Given the description of an element on the screen output the (x, y) to click on. 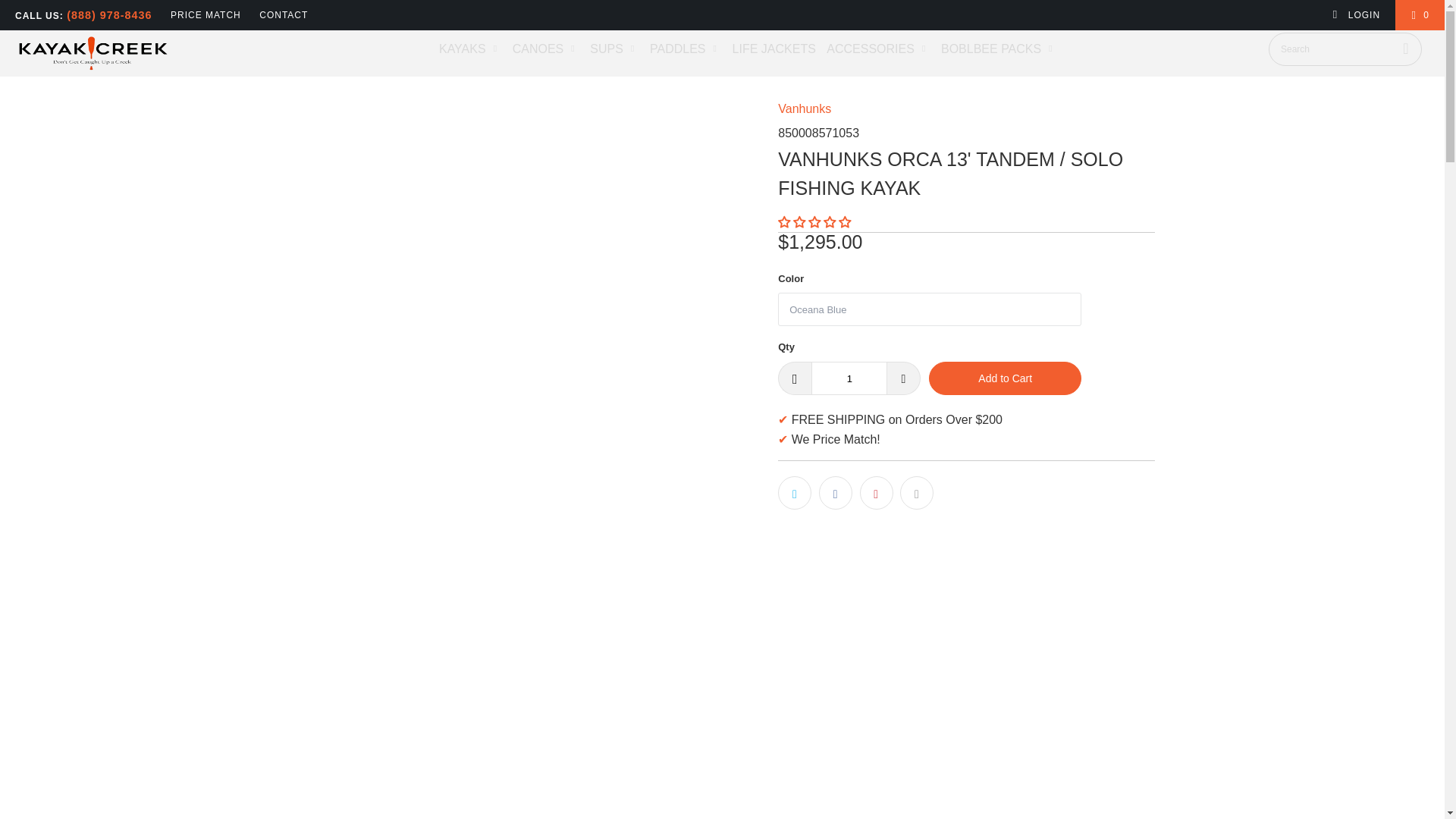
Share this on Twitter (793, 492)
1 (848, 377)
My Account  (1355, 15)
Share this on Facebook (834, 492)
Share this on Pinterest (876, 492)
Vanhunks (804, 108)
Kayak Creek (122, 53)
Email this to a friend (916, 492)
